Given the description of an element on the screen output the (x, y) to click on. 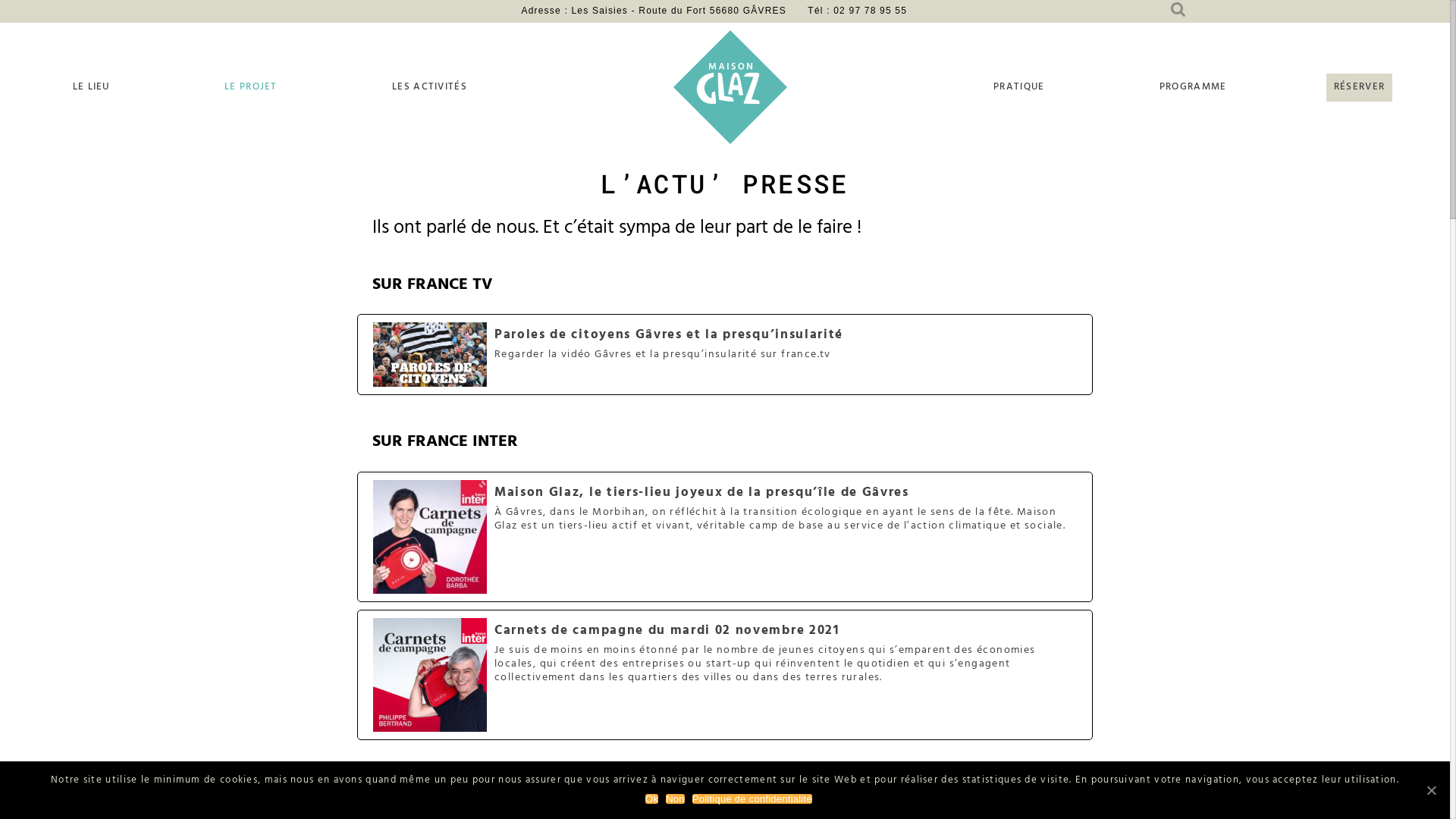
PRATIQUE Element type: text (1018, 87)
Carnets de campagne du mardi 02 novembre 2021 Element type: hover (724, 674)
MAISON GLAZ Element type: text (730, 87)
PROGRAMME Element type: text (1193, 87)
LE LIEU Element type: text (91, 87)
Rechercher Element type: text (1363, 29)
Non Element type: text (674, 798)
LE PROJET Element type: text (250, 87)
Ok Element type: text (651, 798)
